Given the description of an element on the screen output the (x, y) to click on. 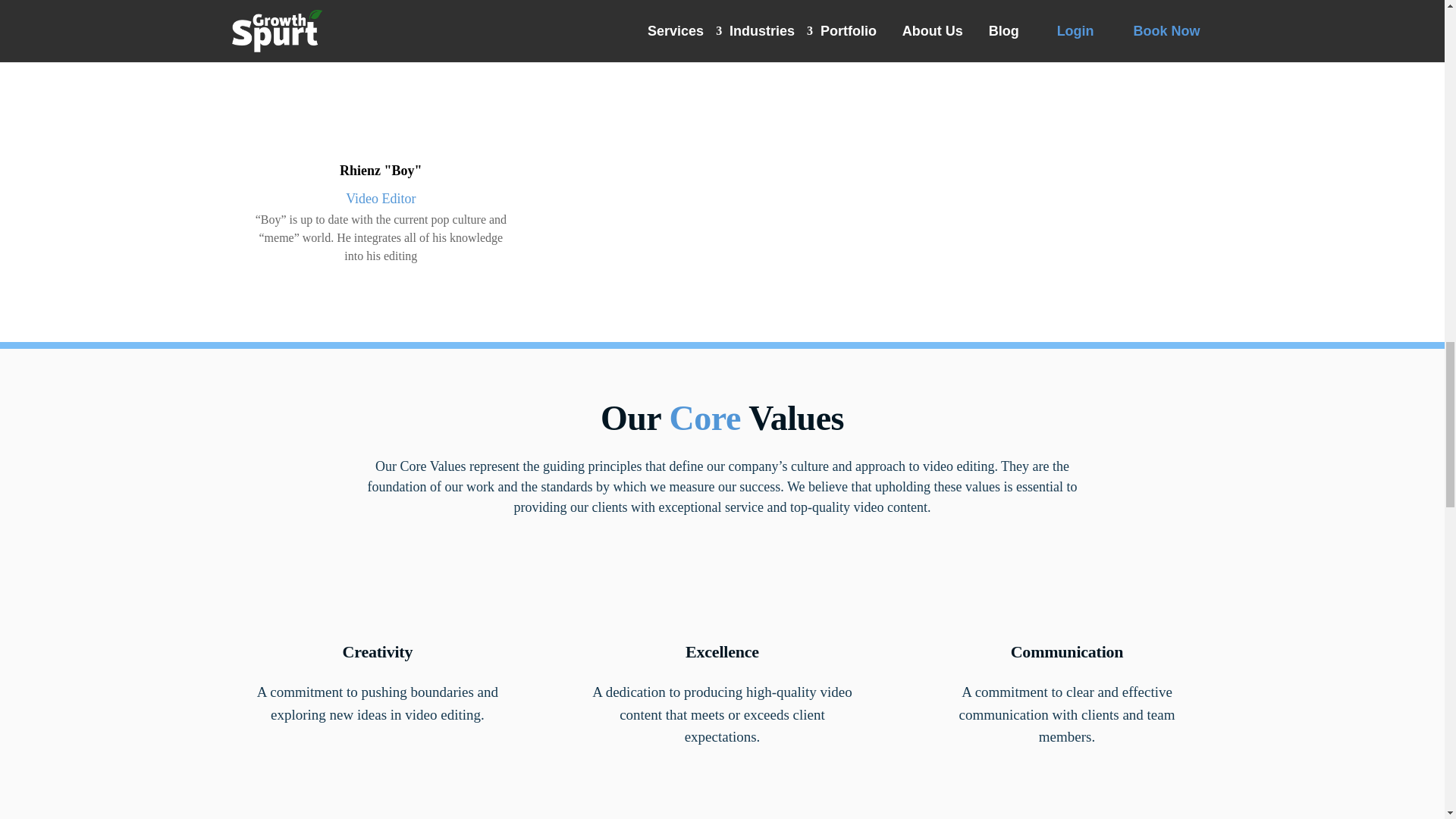
rhienz (379, 74)
